Given the description of an element on the screen output the (x, y) to click on. 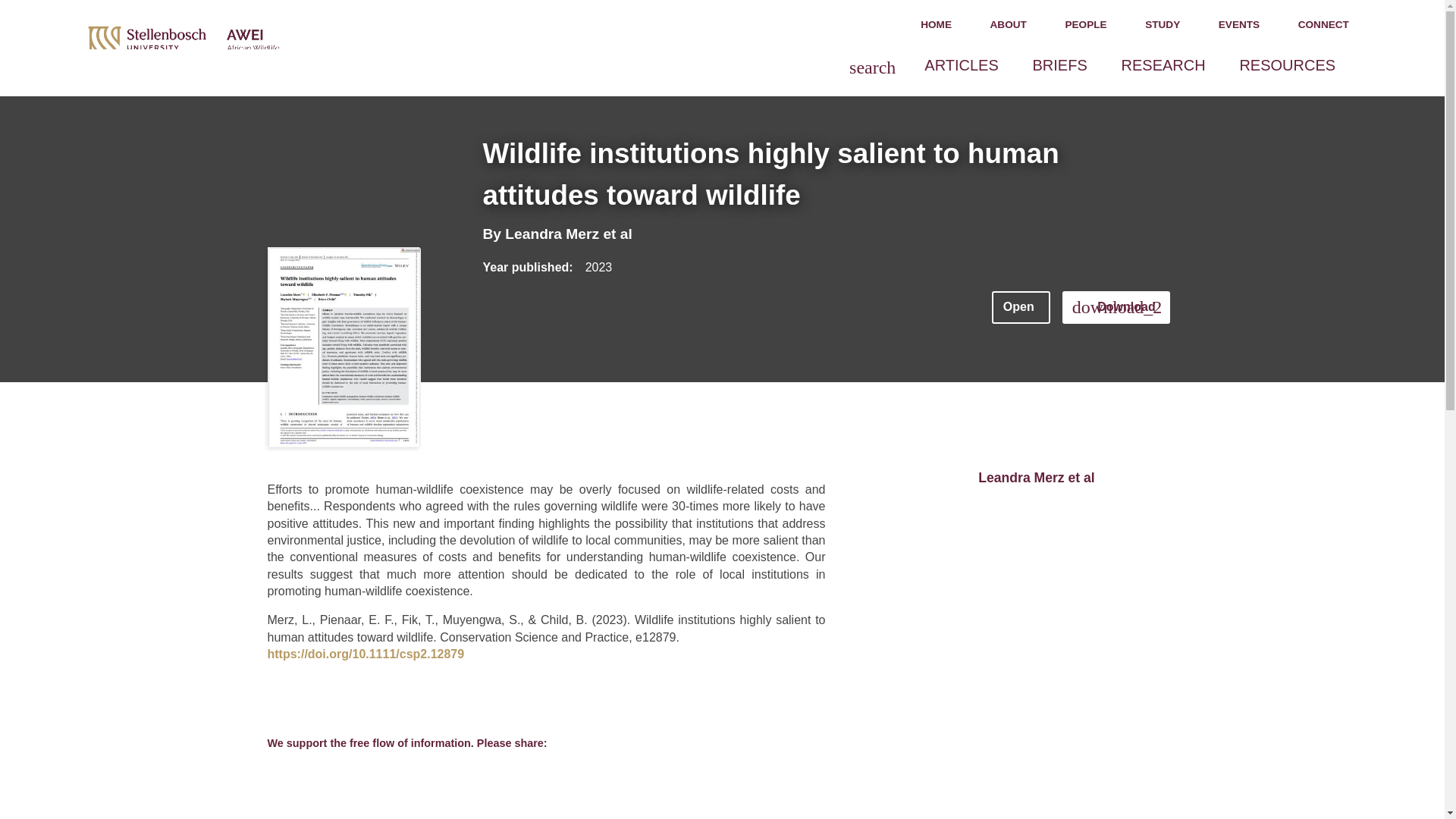
ABOUT (1008, 25)
Share to Email (396, 771)
EVENTS (1238, 25)
Share to Linkedin (367, 771)
AWEI's People (1086, 25)
ARTICLES (966, 64)
RESOURCES (1291, 64)
search (871, 67)
Share to WhatsApp (338, 771)
Share to X (309, 771)
